Given the description of an element on the screen output the (x, y) to click on. 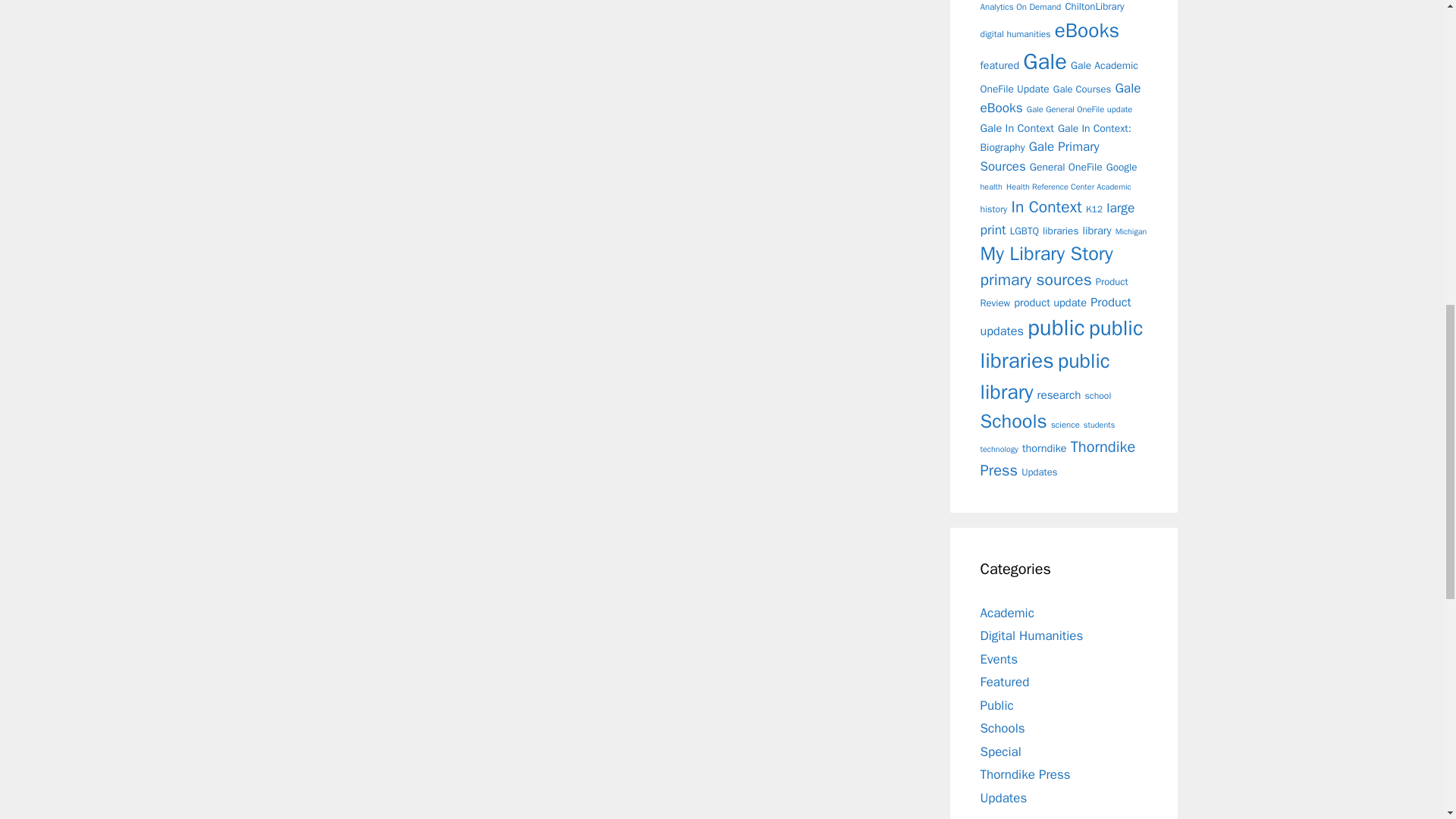
digital humanities (1014, 33)
Scroll back to top (1406, 720)
ChiltonLibrary (1094, 6)
Analytics On Demand (1020, 6)
